Given the description of an element on the screen output the (x, y) to click on. 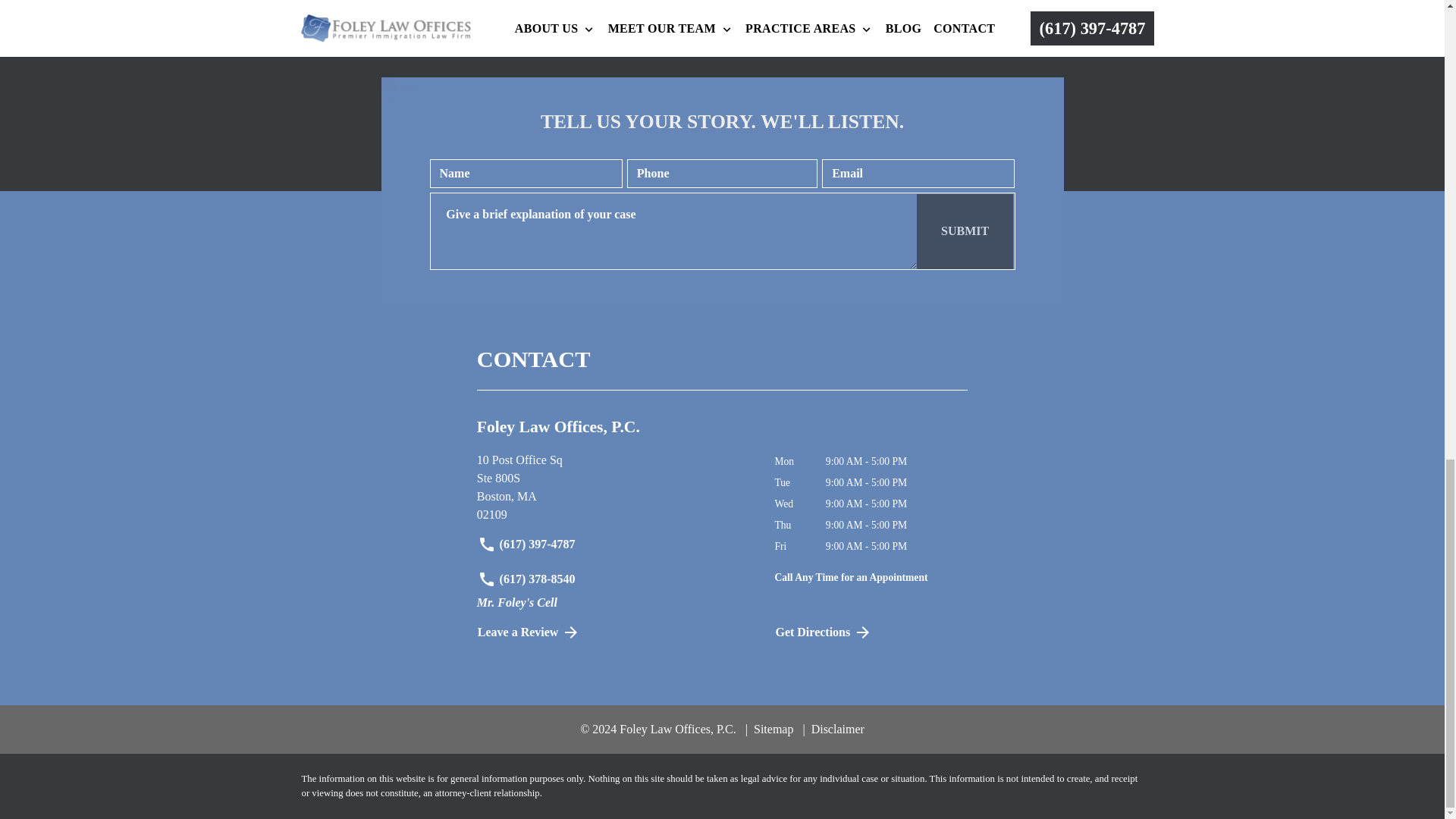
Disclaimer (832, 728)
Get Directions (614, 487)
Sitemap (865, 632)
SUBMIT (769, 728)
Leave a Review (965, 231)
